Given the description of an element on the screen output the (x, y) to click on. 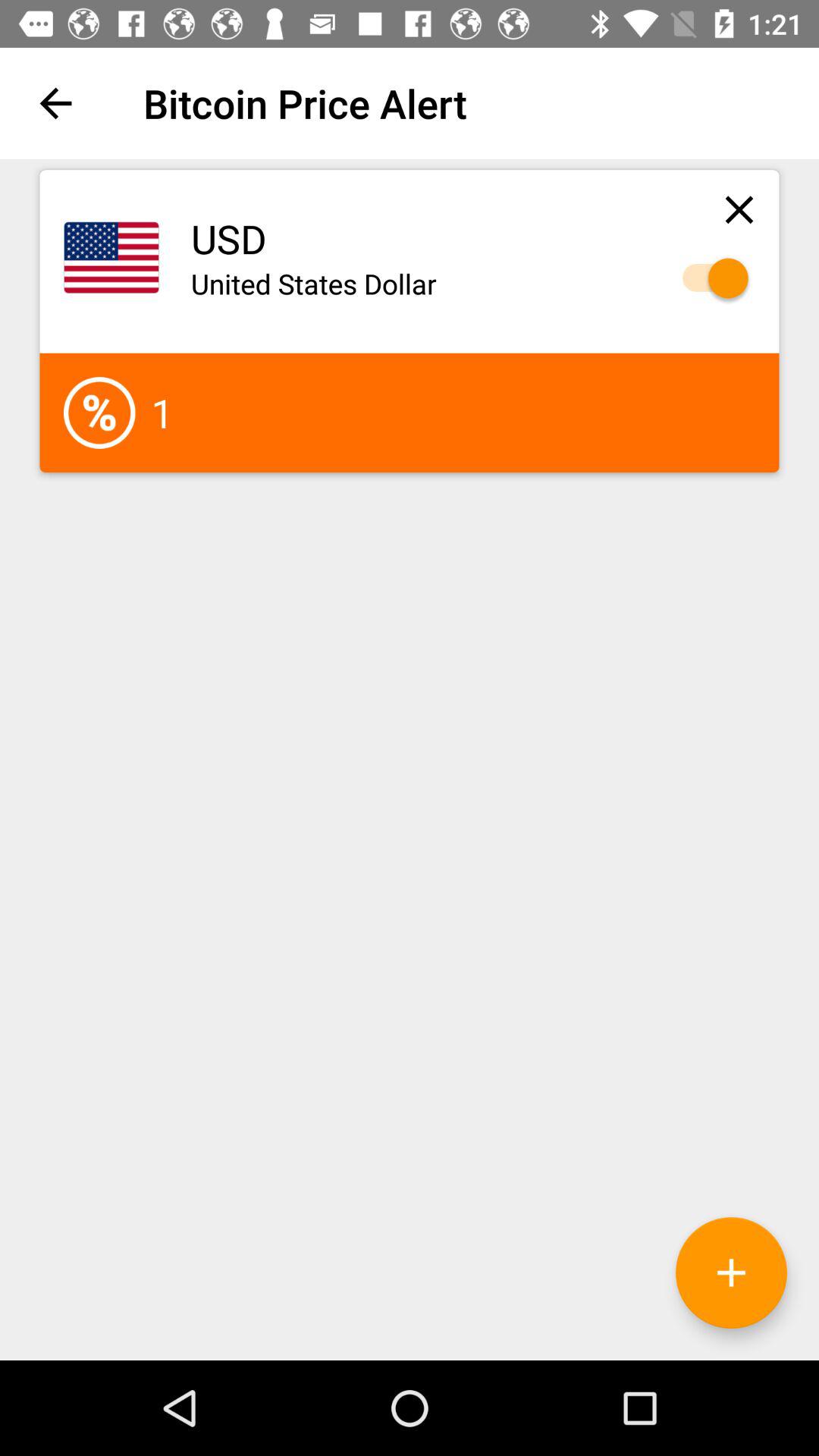
toggle usd (707, 278)
